Given the description of an element on the screen output the (x, y) to click on. 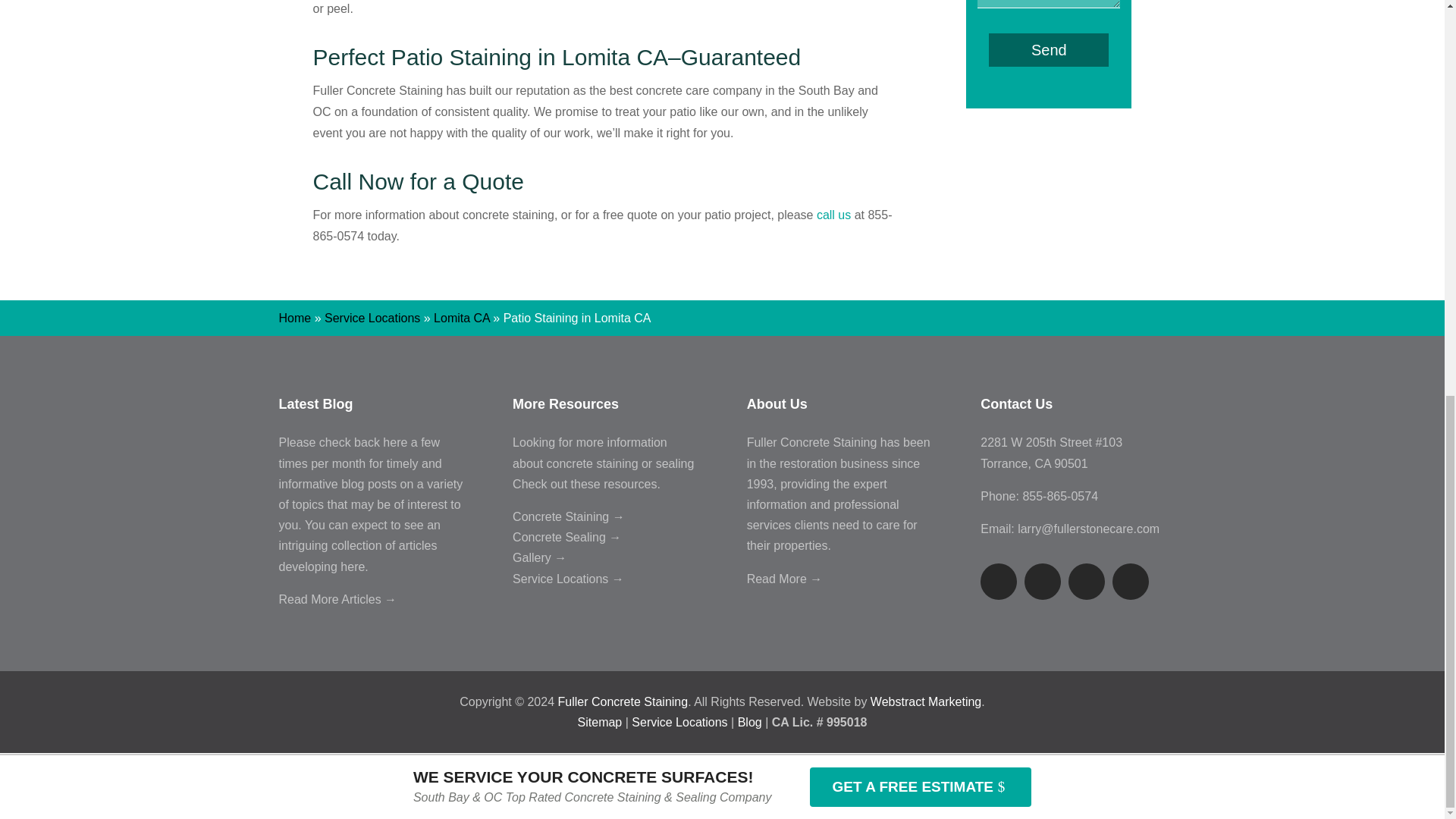
Google (1130, 581)
Facebook (998, 581)
Facebook (997, 581)
Lomita CA (461, 318)
call us (833, 214)
Home (295, 318)
Send (1048, 49)
Send (1048, 49)
Website Design Los Angeles CA (925, 701)
Twitter (1043, 581)
Yelp (1086, 581)
Google (1130, 581)
Contact US (833, 214)
Email (1087, 528)
Service Locations (372, 318)
